Given the description of an element on the screen output the (x, y) to click on. 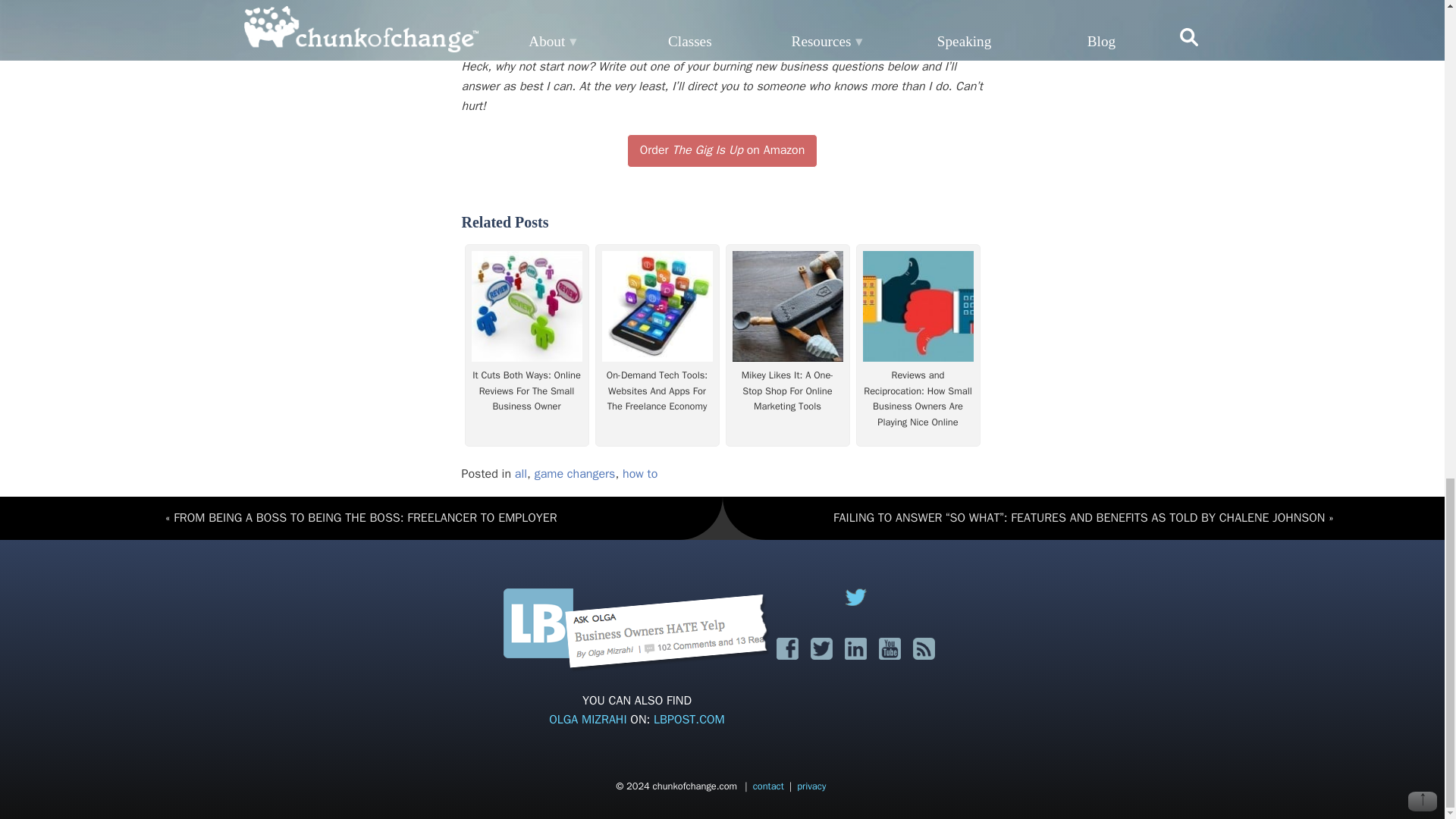
FROM BEING A BOSS TO BEING THE BOSS: FREELANCER TO EMPLOYER (361, 518)
game changers (574, 473)
